Given the description of an element on the screen output the (x, y) to click on. 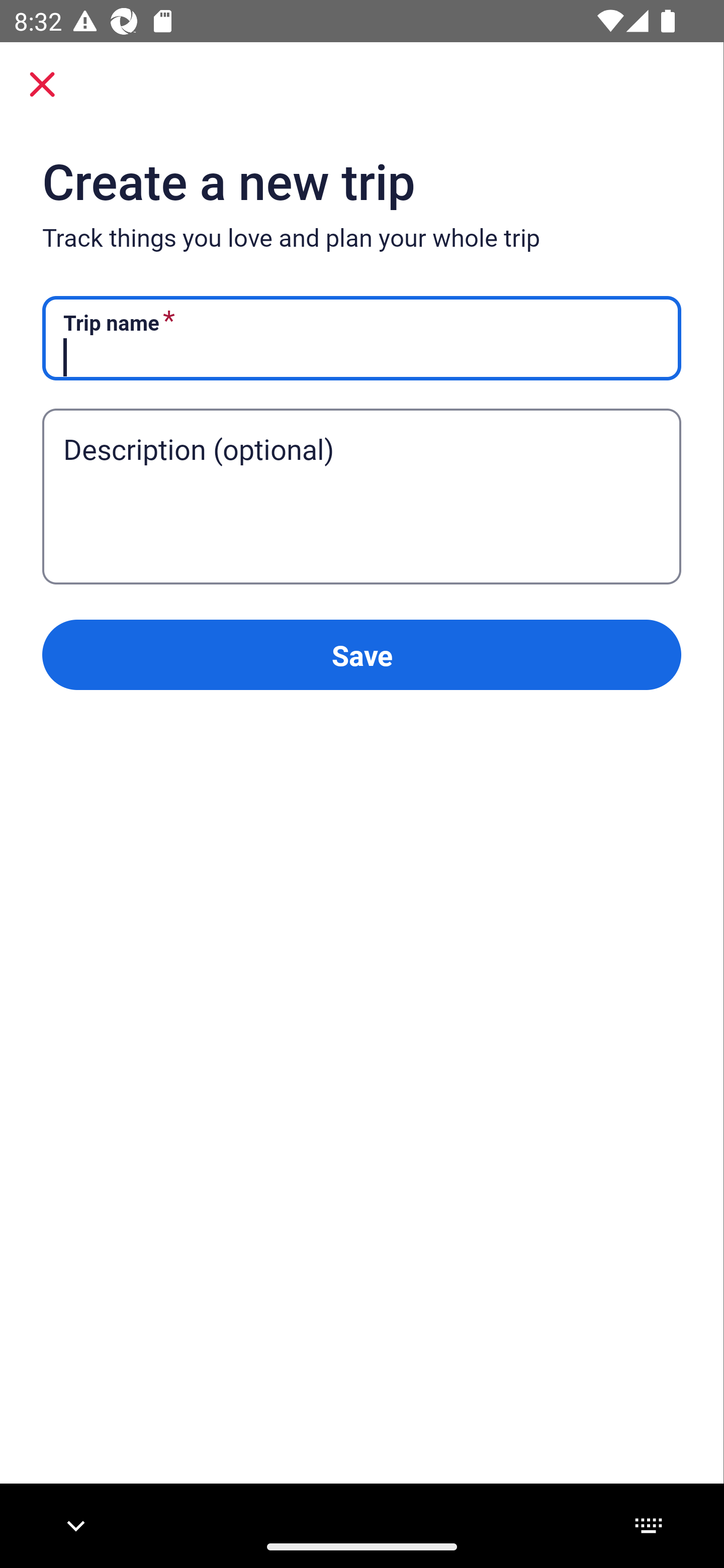
Close (42, 84)
Trip name* Trip name required (361, 338)
Description (optional) (361, 467)
Save (361, 655)
